Given the description of an element on the screen output the (x, y) to click on. 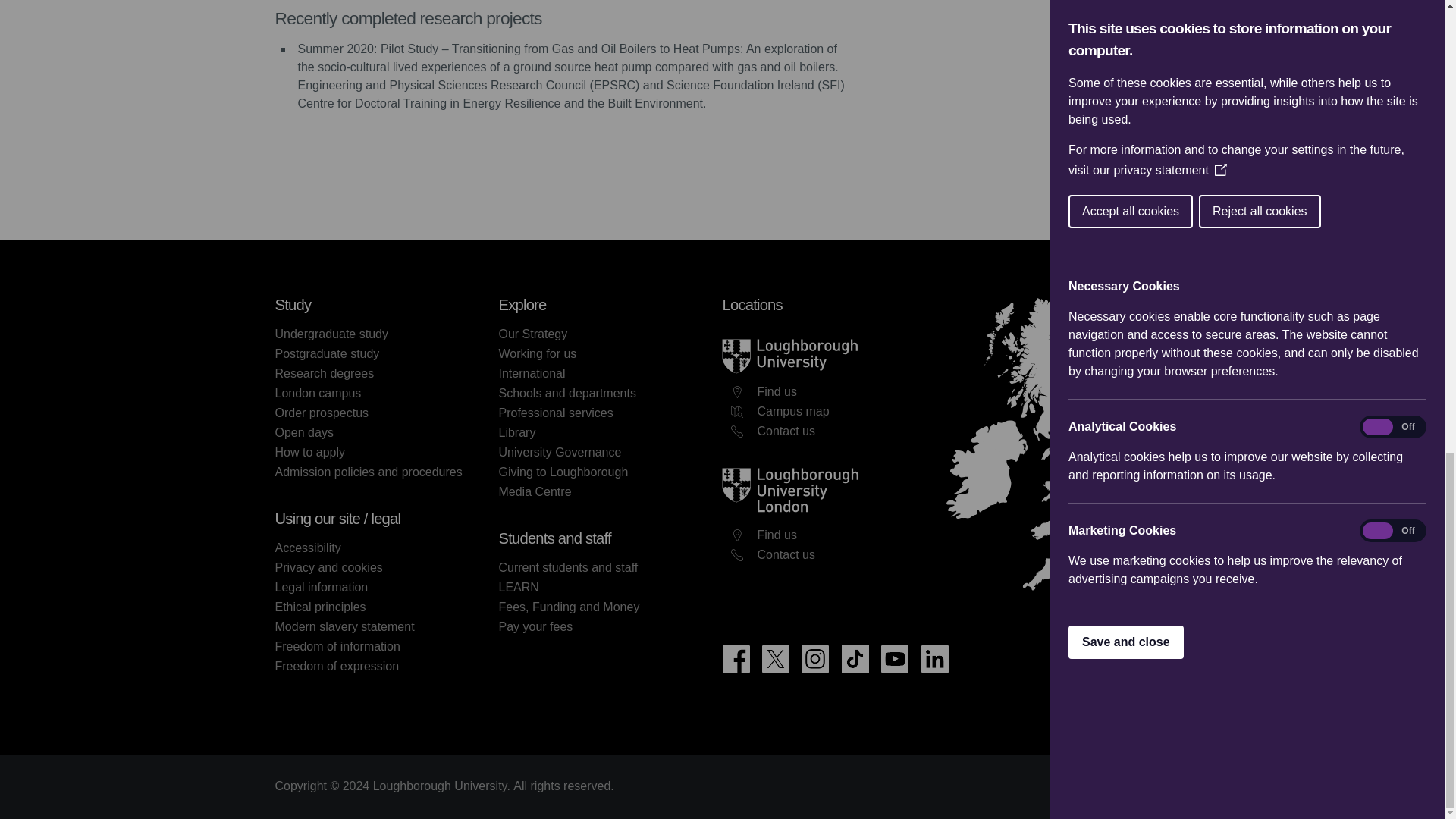
London campus (318, 393)
Order prospectus (321, 413)
Undergraduate study (331, 334)
Research degrees (324, 373)
Open days (304, 432)
Postgraduate study (326, 354)
